Given the description of an element on the screen output the (x, y) to click on. 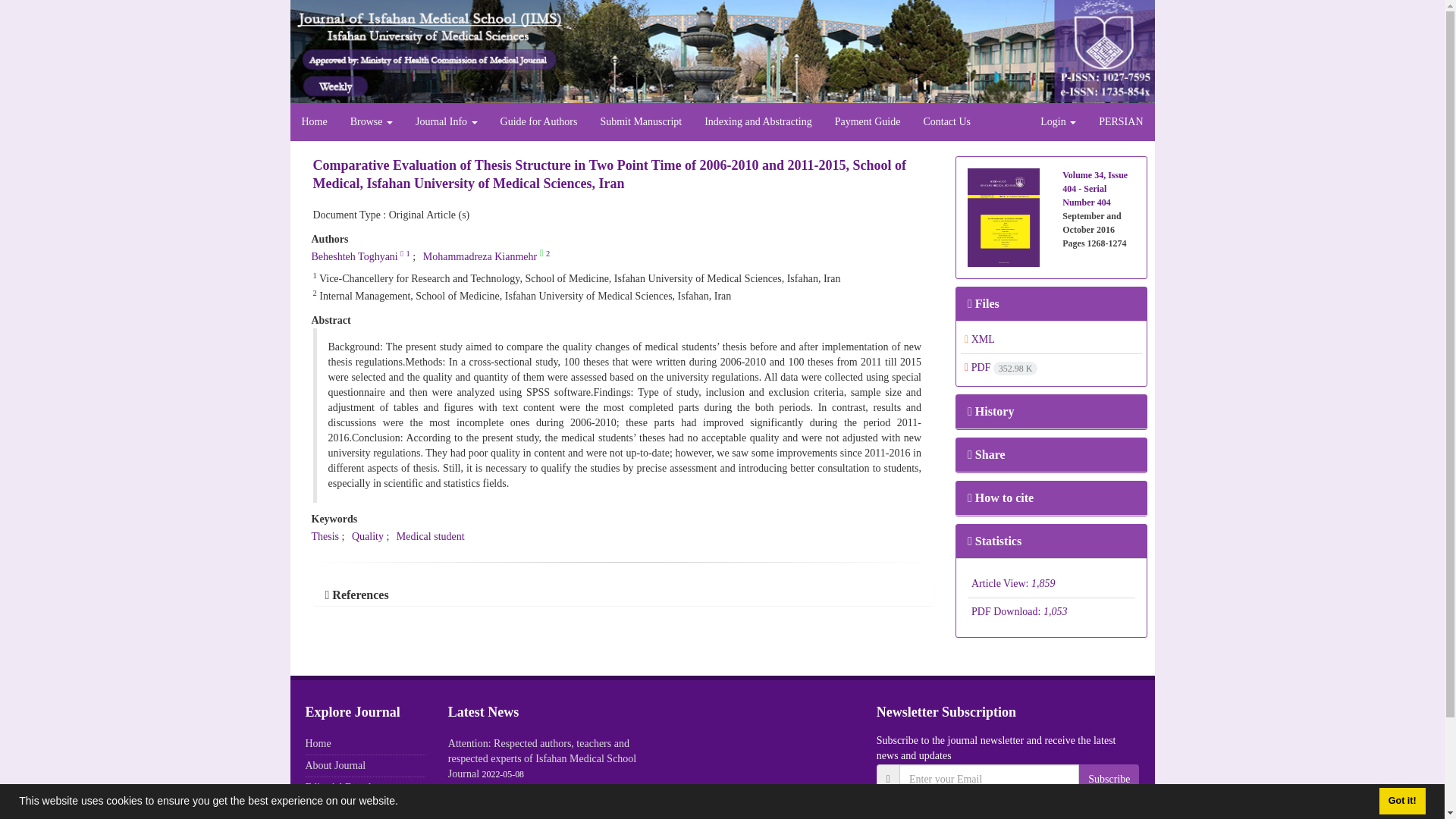
Contact Us (946, 121)
Beheshteh Toghyani (354, 256)
Quality (368, 536)
Indexing and Abstracting (758, 121)
Submit Manuscript (640, 121)
Home (313, 121)
Login (1058, 121)
Guide for Authors (539, 121)
Thesis (325, 536)
